Given the description of an element on the screen output the (x, y) to click on. 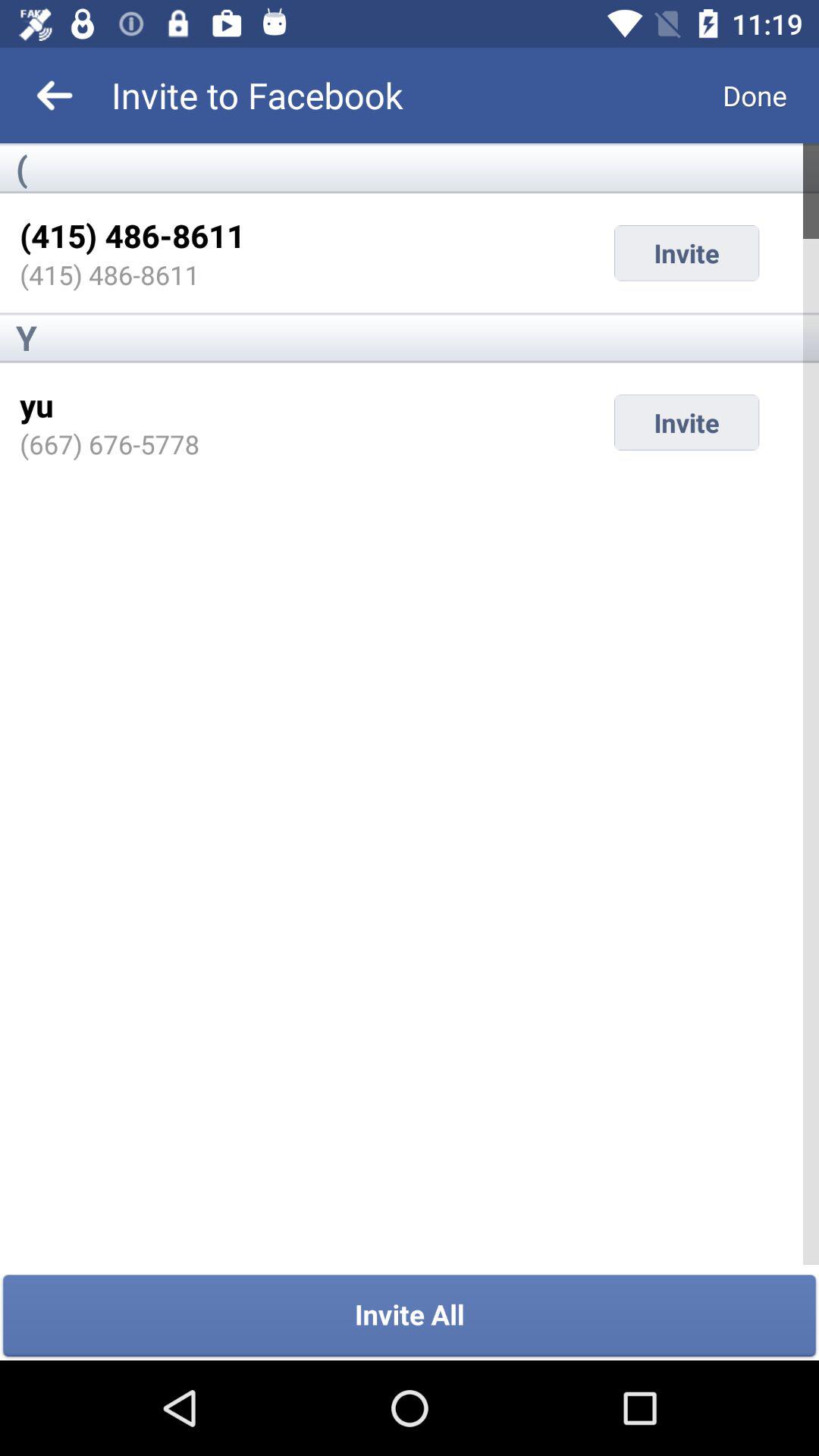
select the item next to invite item (109, 443)
